Given the description of an element on the screen output the (x, y) to click on. 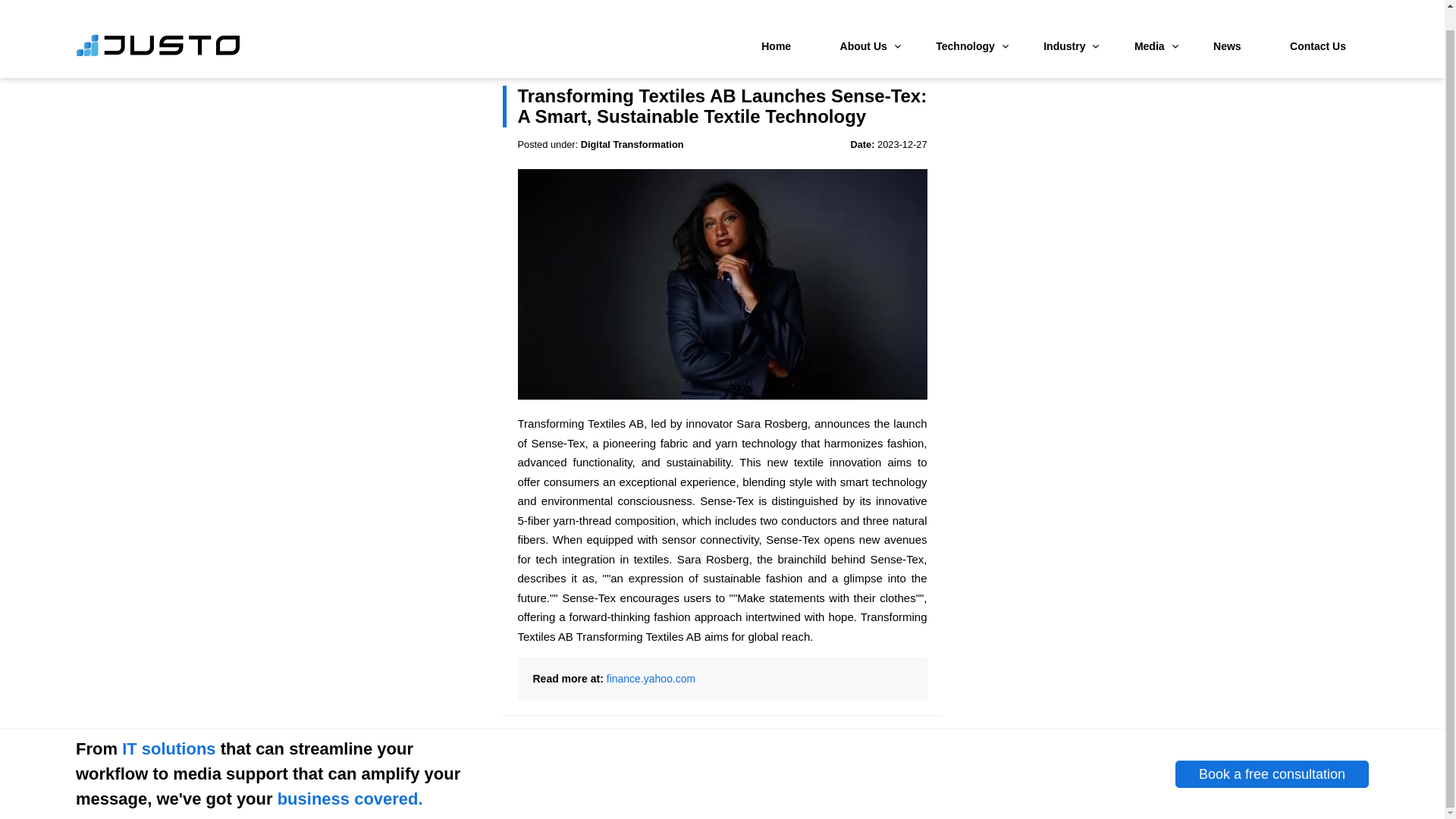
Book a free consultation (1271, 774)
finance.yahoo.com (651, 678)
Home (775, 26)
About Us (863, 26)
Industry (1064, 26)
Contact Us (1318, 26)
News (1227, 26)
Media (1149, 26)
Technology (965, 26)
Justo (158, 33)
